Given the description of an element on the screen output the (x, y) to click on. 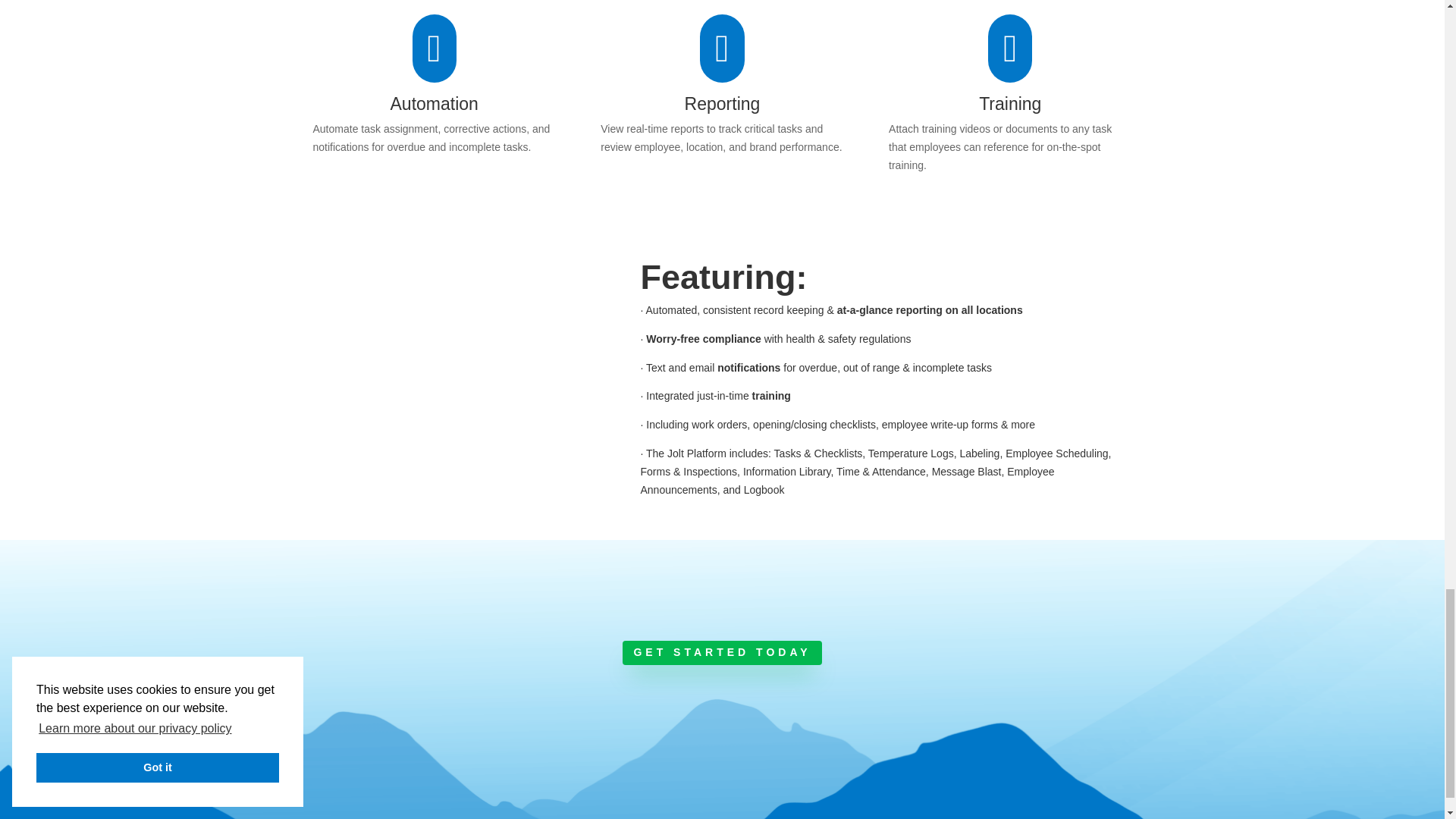
GET STARTED TODAY (722, 652)
